Given the description of an element on the screen output the (x, y) to click on. 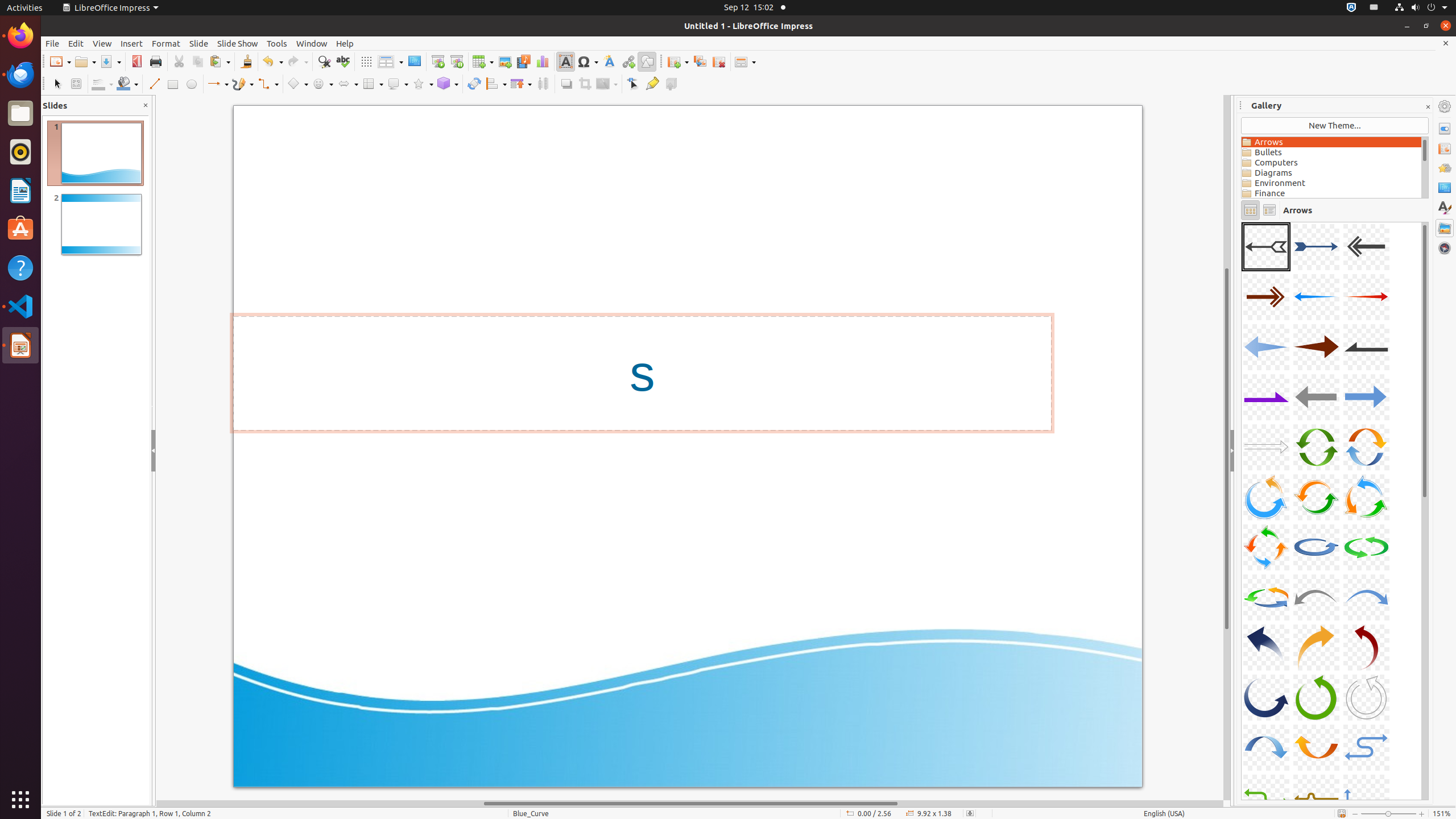
A20-CircleArrow-LightBlue Element type: list-item (1315, 546)
A07-Arrow-LightBlue-Left Element type: list-item (1265, 346)
Close Sidebar Deck Element type: push-button (1427, 106)
LibreOffice Impress Element type: menu (109, 7)
Edit Points Element type: push-button (632, 83)
